Given the description of an element on the screen output the (x, y) to click on. 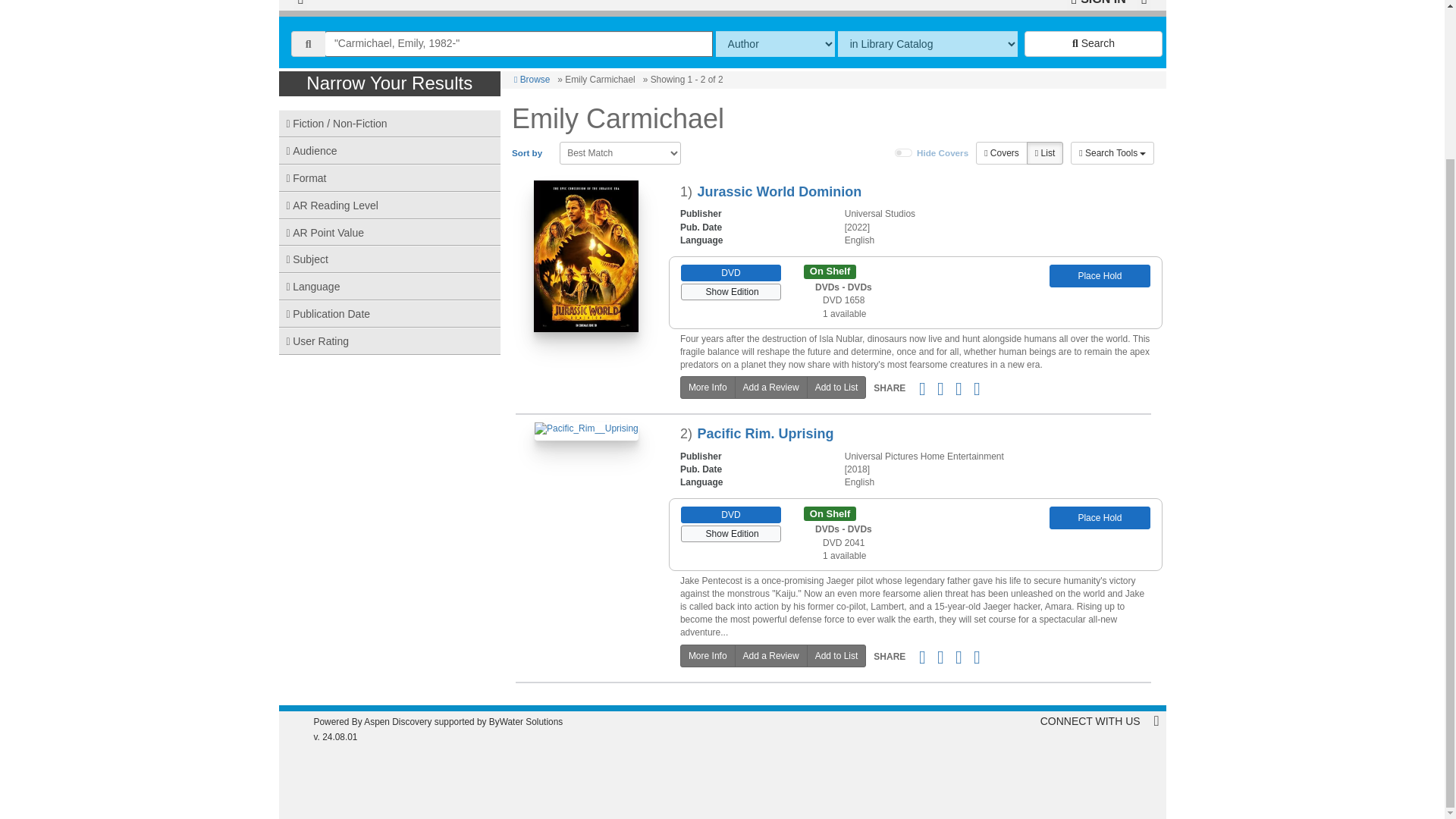
 Search (1093, 43)
"Carmichael, Emily, 1982-" (518, 43)
The method of searching. (775, 43)
Browse (531, 79)
Show Menu (1144, 5)
SIGN IN (1098, 5)
on (903, 153)
Login (1098, 5)
Browse the Catalog (300, 5)
